Given the description of an element on the screen output the (x, y) to click on. 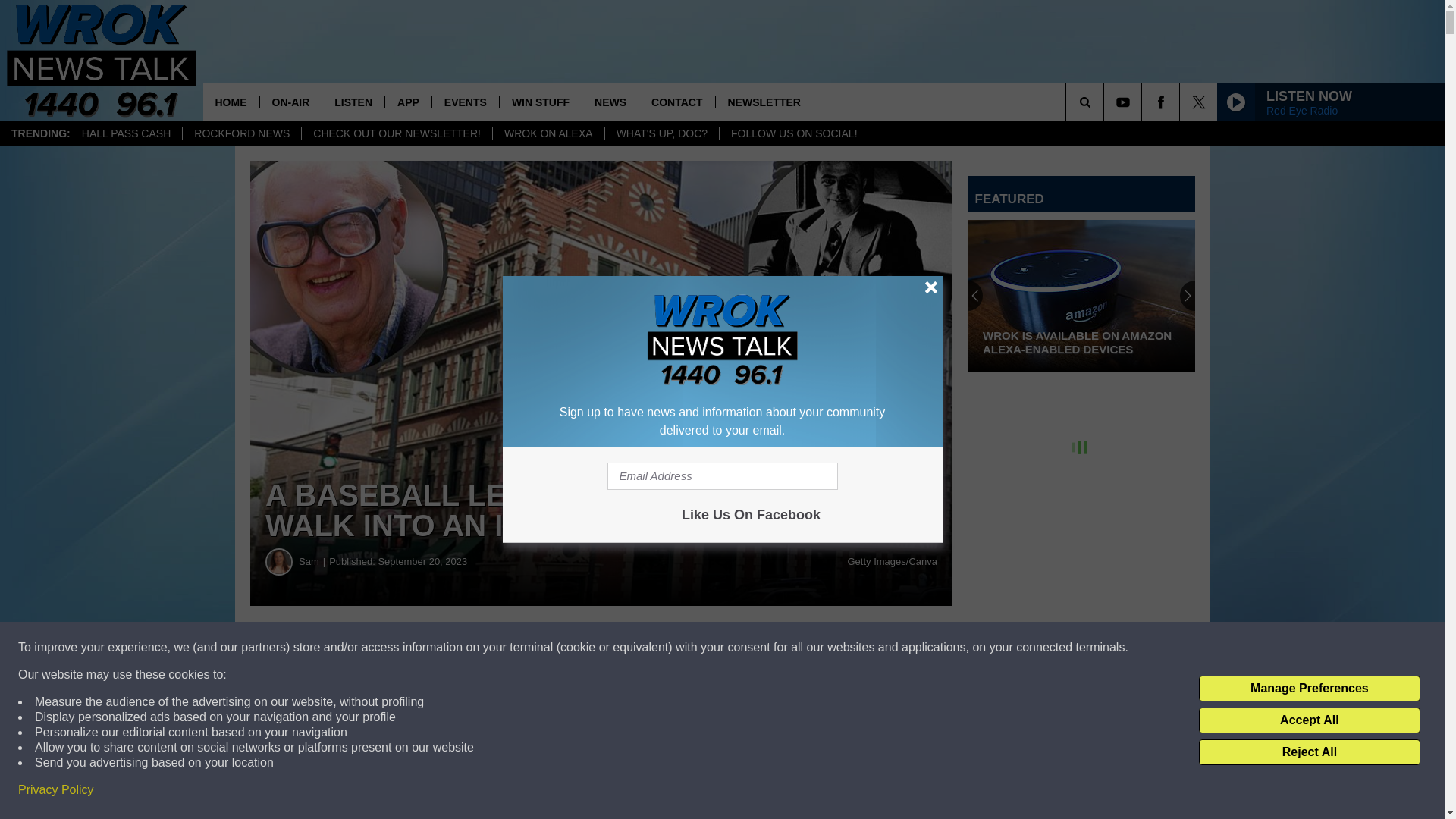
WIN STUFF (539, 102)
SEARCH (1106, 102)
SEARCH (1106, 102)
FOLLOW US ON SOCIAL! (793, 133)
Manage Preferences (1309, 688)
Email Address (722, 475)
LISTEN (352, 102)
Privacy Policy (55, 789)
NEWS (609, 102)
Accept All (1309, 720)
WHAT'S UP, DOC? (661, 133)
Share on Facebook (460, 647)
HALL PASS CASH (126, 133)
APP (407, 102)
EVENTS (464, 102)
